Given the description of an element on the screen output the (x, y) to click on. 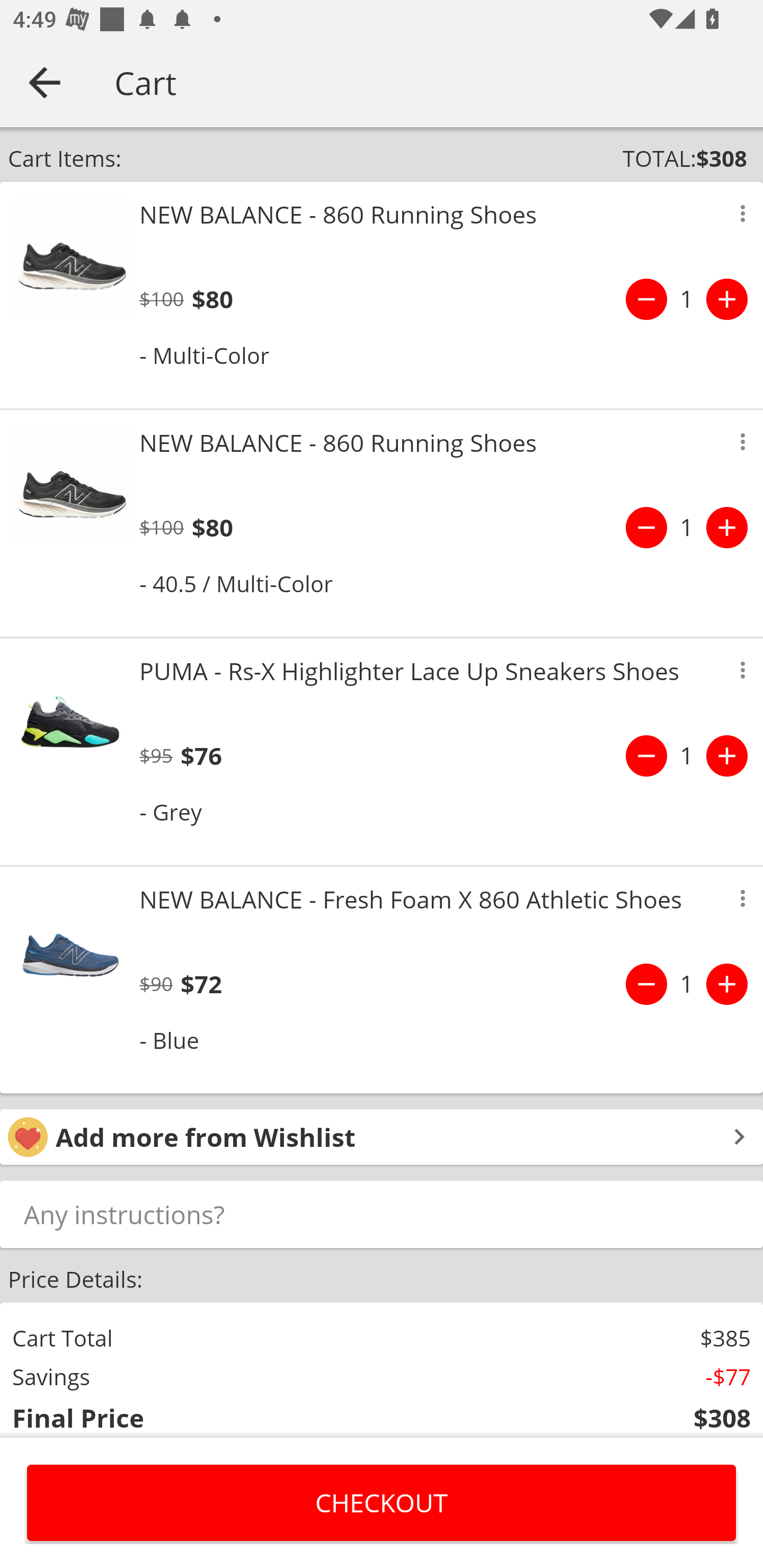
Navigate up (44, 82)
1 (686, 299)
1 (686, 527)
1 (686, 755)
1 (686, 984)
Add more from Wishlist (381, 1136)
Any instructions? (381, 1213)
CHECKOUT (381, 1502)
